Given the description of an element on the screen output the (x, y) to click on. 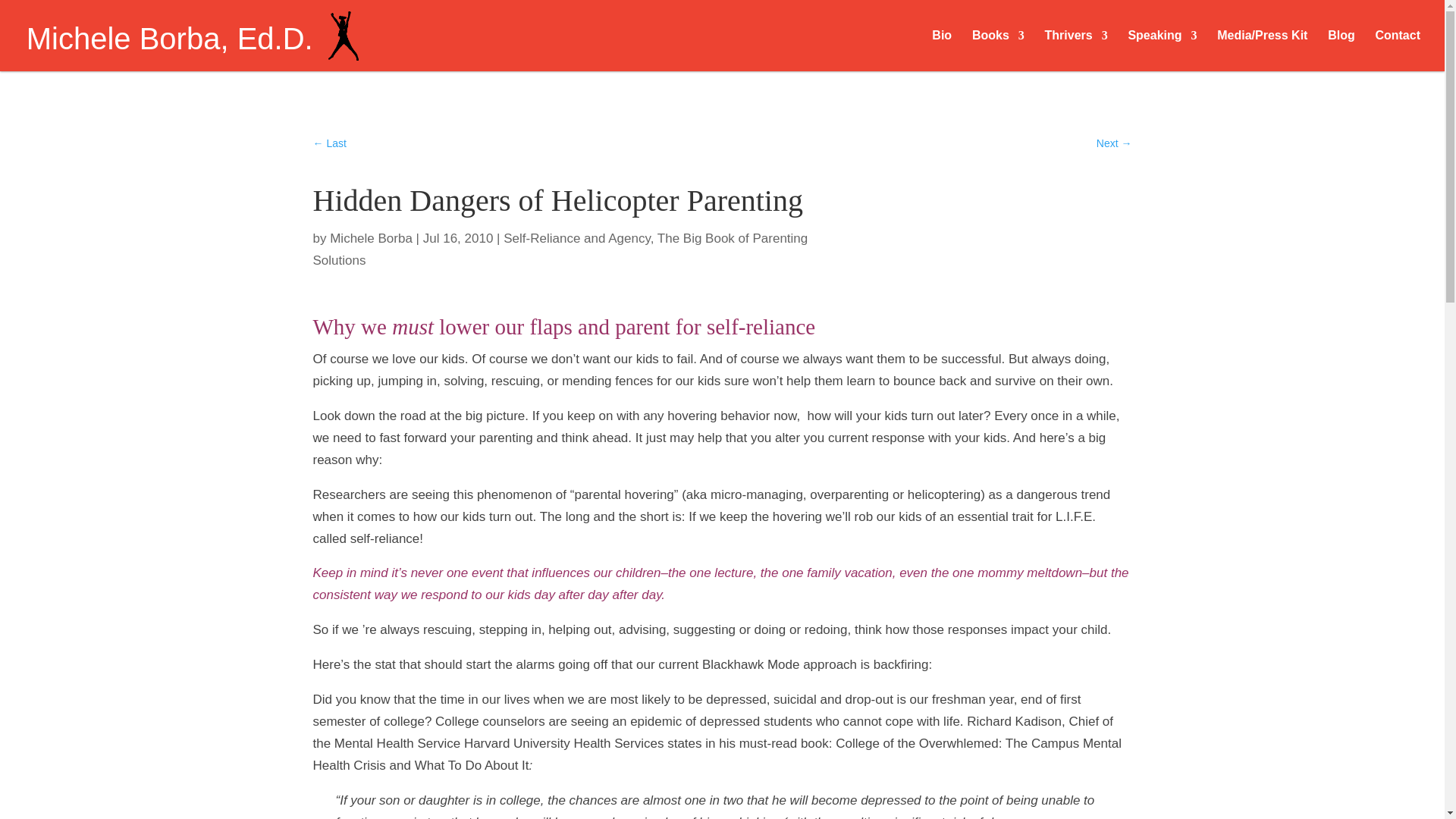
Thrivers (1076, 50)
Contact (1397, 50)
Michele Borba, Ed.D. (192, 44)
Posts by Michele Borba (371, 237)
Speaking (1161, 50)
Books (998, 50)
